Given the description of an element on the screen output the (x, y) to click on. 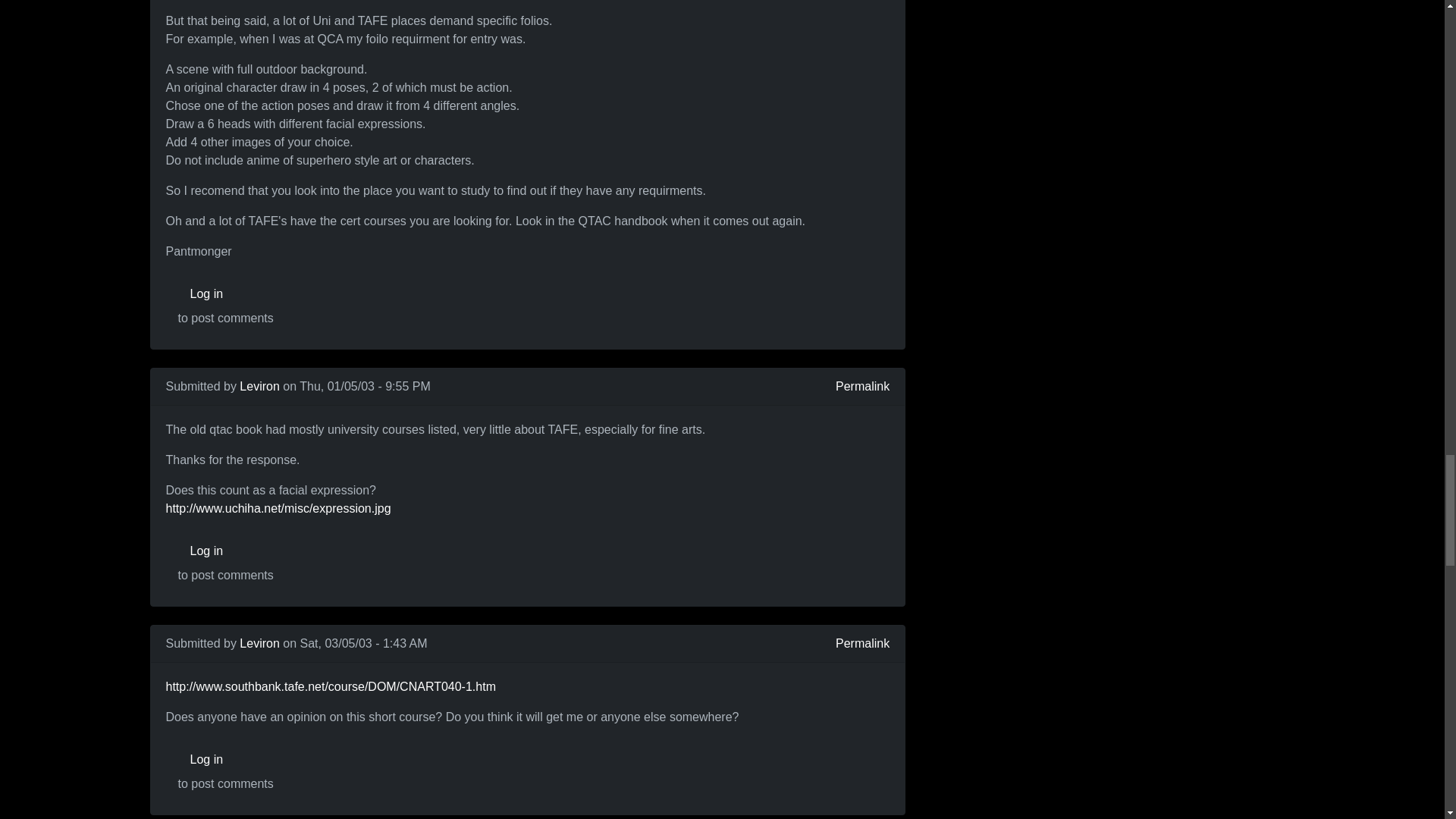
View user profile. (259, 386)
View user profile. (259, 643)
